Given the description of an element on the screen output the (x, y) to click on. 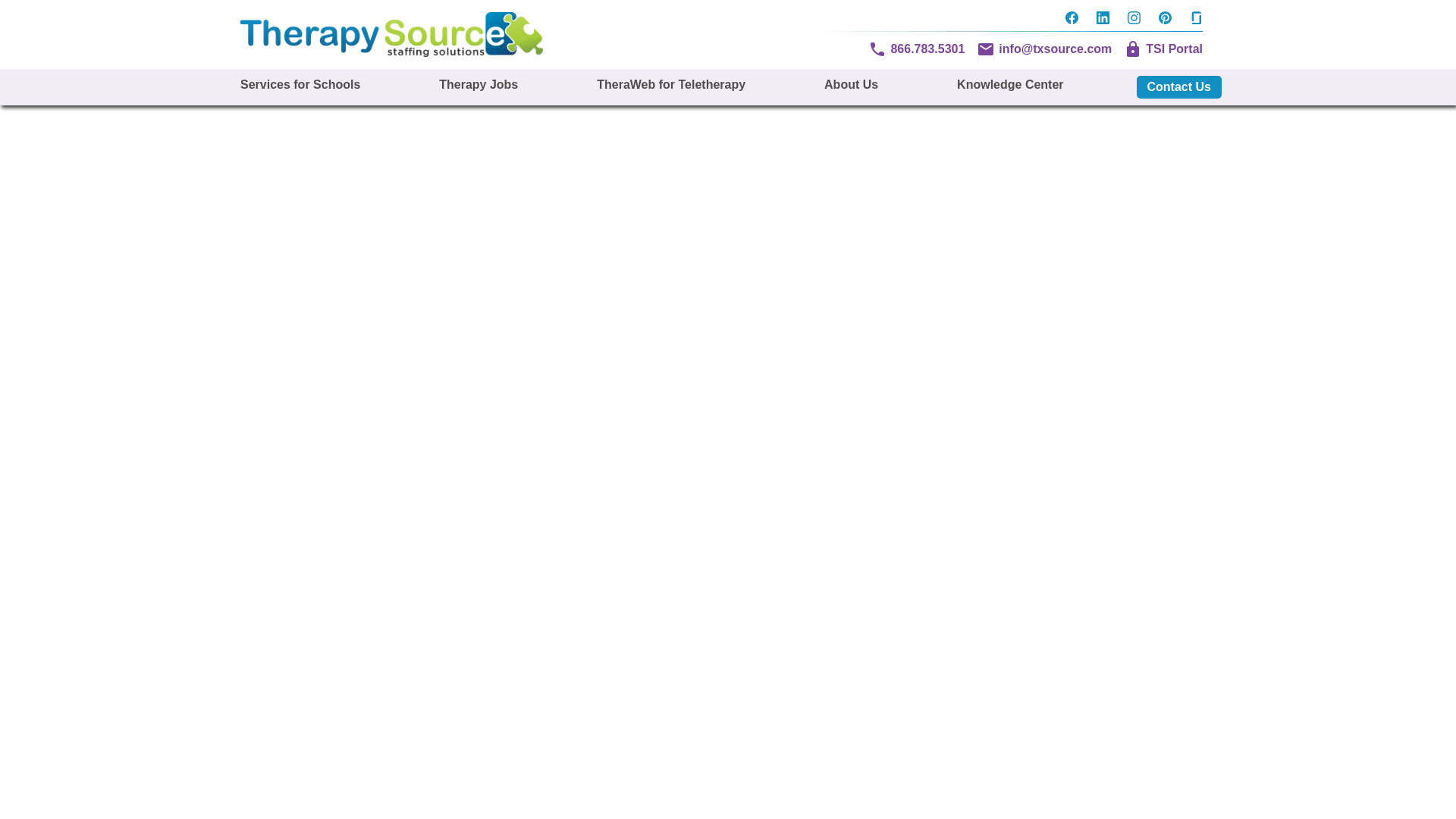
Pinterest (1165, 19)
Therapy Jobs (478, 85)
Glassdoor (1191, 19)
School-based therapist jobs (850, 85)
Instagram (1134, 19)
Services for Schools (300, 85)
Special Education Jobs  (478, 85)
TSI Portal (1163, 49)
Contact Us (1177, 86)
About Us (850, 85)
